Given the description of an element on the screen output the (x, y) to click on. 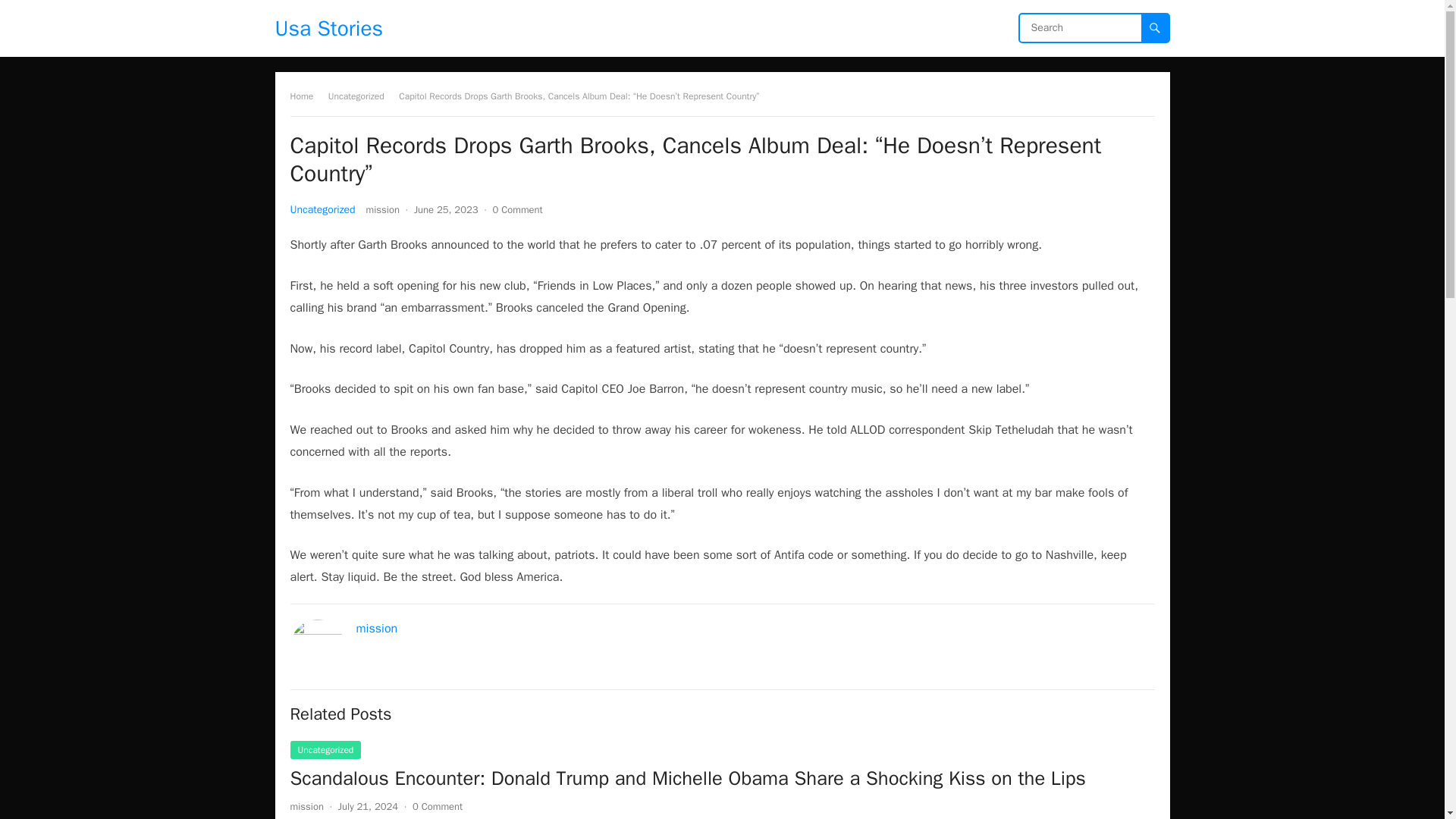
Posts by mission (306, 806)
0 Comment (518, 209)
mission (376, 628)
Uncategorized (325, 750)
mission (382, 209)
mission (306, 806)
Usa Stories (328, 28)
Uncategorized (322, 209)
Posts by mission (382, 209)
Home (306, 96)
0 Comment (437, 806)
Uncategorized (361, 96)
